Given the description of an element on the screen output the (x, y) to click on. 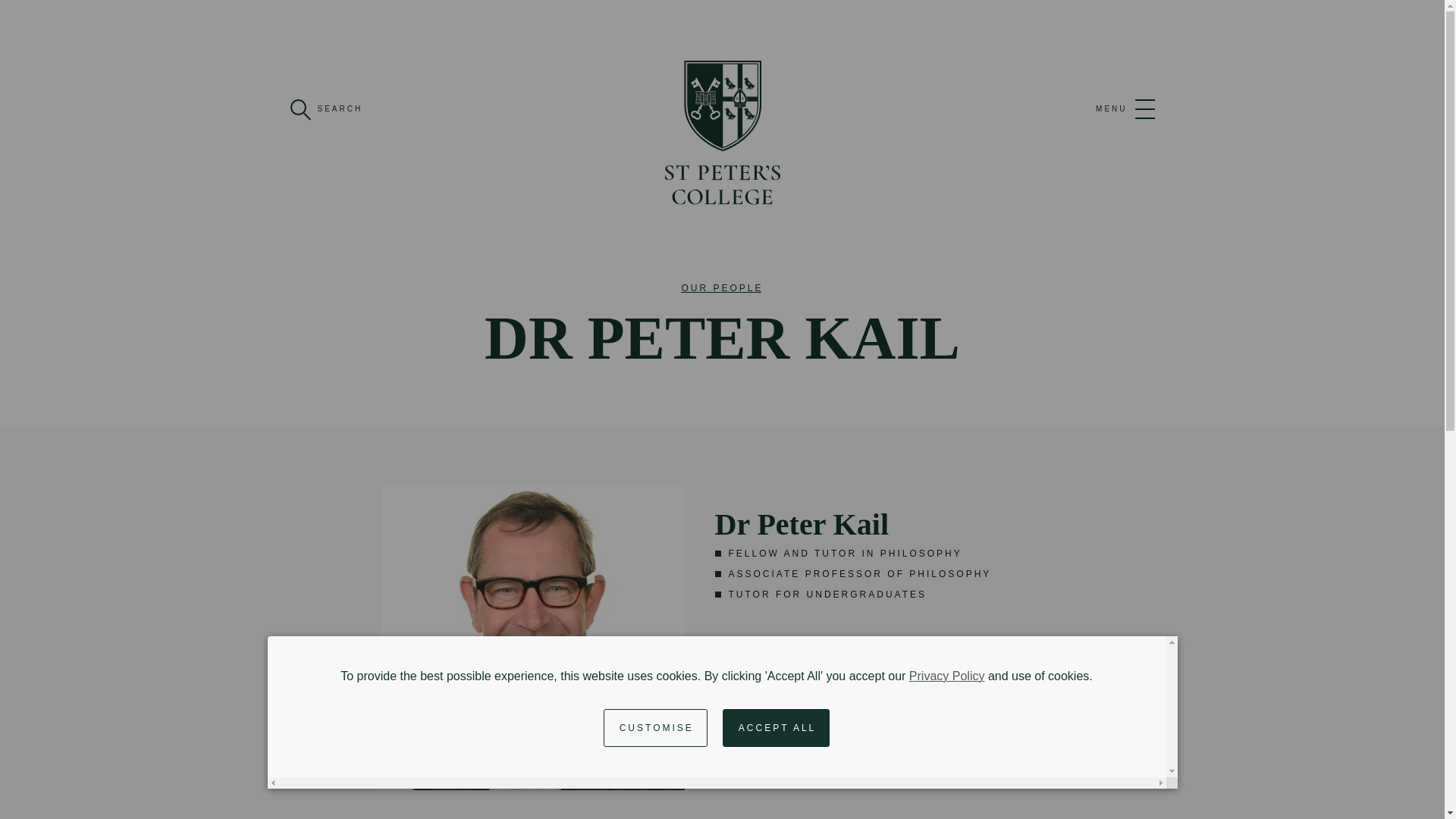
MENU (1125, 108)
SEARCH (325, 108)
